Given the description of an element on the screen output the (x, y) to click on. 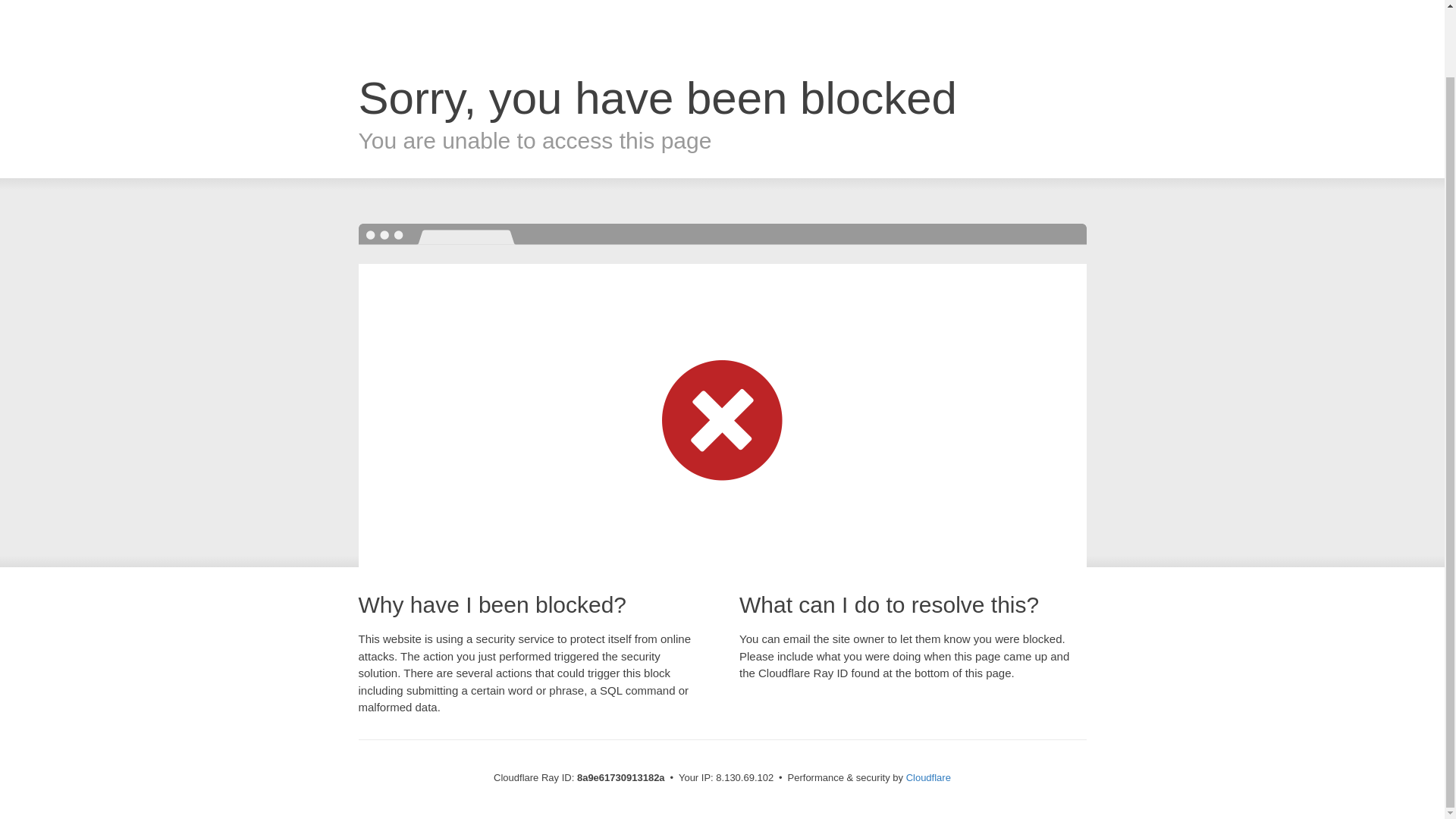
Cloudflare (927, 777)
